Given the description of an element on the screen output the (x, y) to click on. 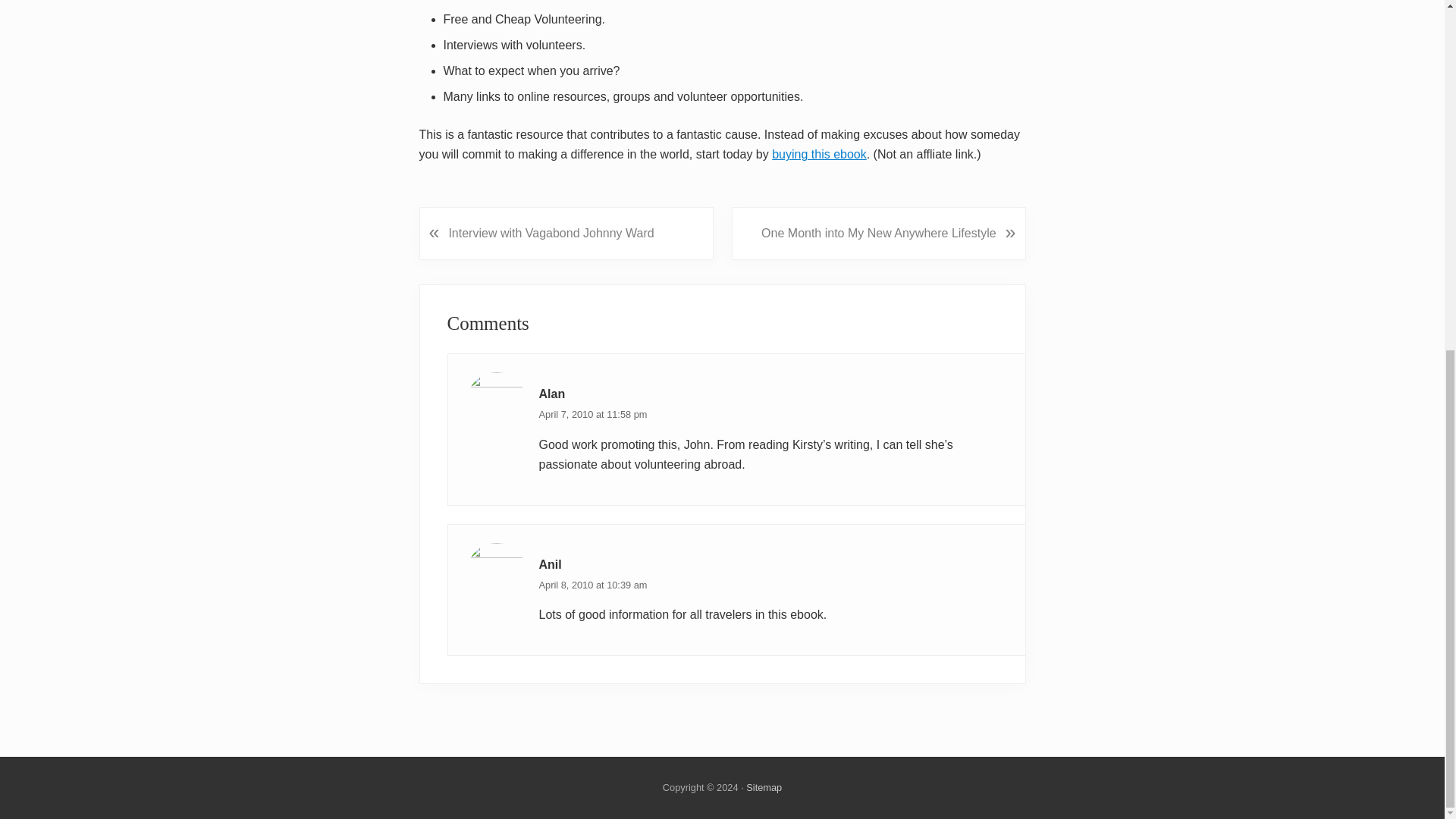
Alan (551, 393)
Anil (549, 563)
International Volunteering (818, 154)
April 8, 2010 at 10:39 am (592, 584)
buying this ebook (818, 154)
April 7, 2010 at 11:58 pm (592, 414)
Sitemap (763, 787)
